Given the description of an element on the screen output the (x, y) to click on. 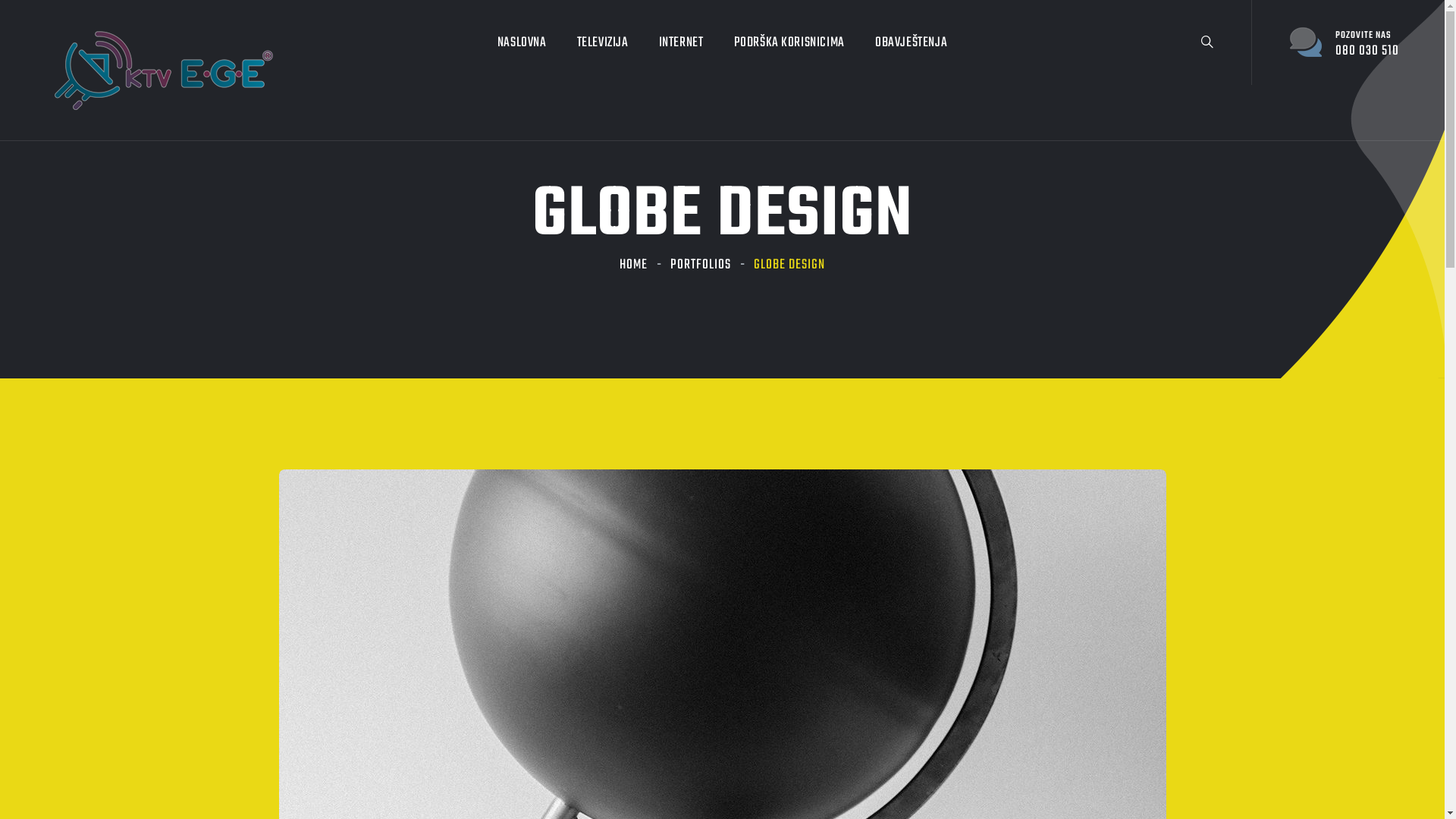
POZOVITE NAS
080 030 510 Element type: text (1344, 42)
INTERNET Element type: text (680, 42)
NASLOVNA Element type: text (521, 42)
HOME Element type: text (633, 265)
PORTFOLIOS Element type: text (700, 265)
TELEVIZIJA Element type: text (602, 42)
